Given the description of an element on the screen output the (x, y) to click on. 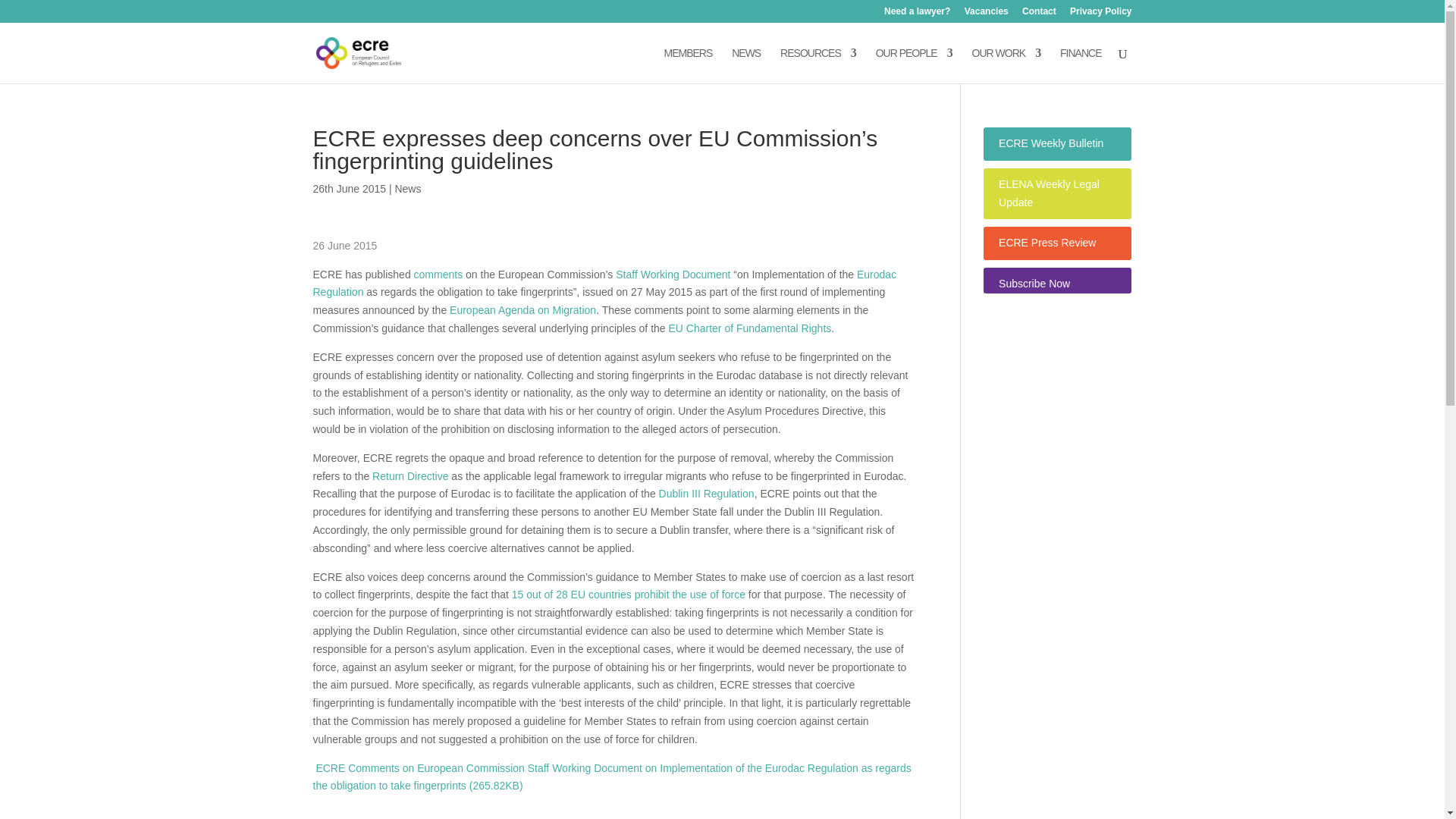
MEMBERS (688, 65)
OUR WORK (1006, 65)
EU Charter of Fundamental Rights (749, 328)
Contact (1039, 14)
European Agenda on Migration (522, 309)
comments (439, 274)
Staff Working Document (672, 274)
Vacancies (986, 14)
OUR PEOPLE (914, 65)
News (407, 188)
